Given the description of an element on the screen output the (x, y) to click on. 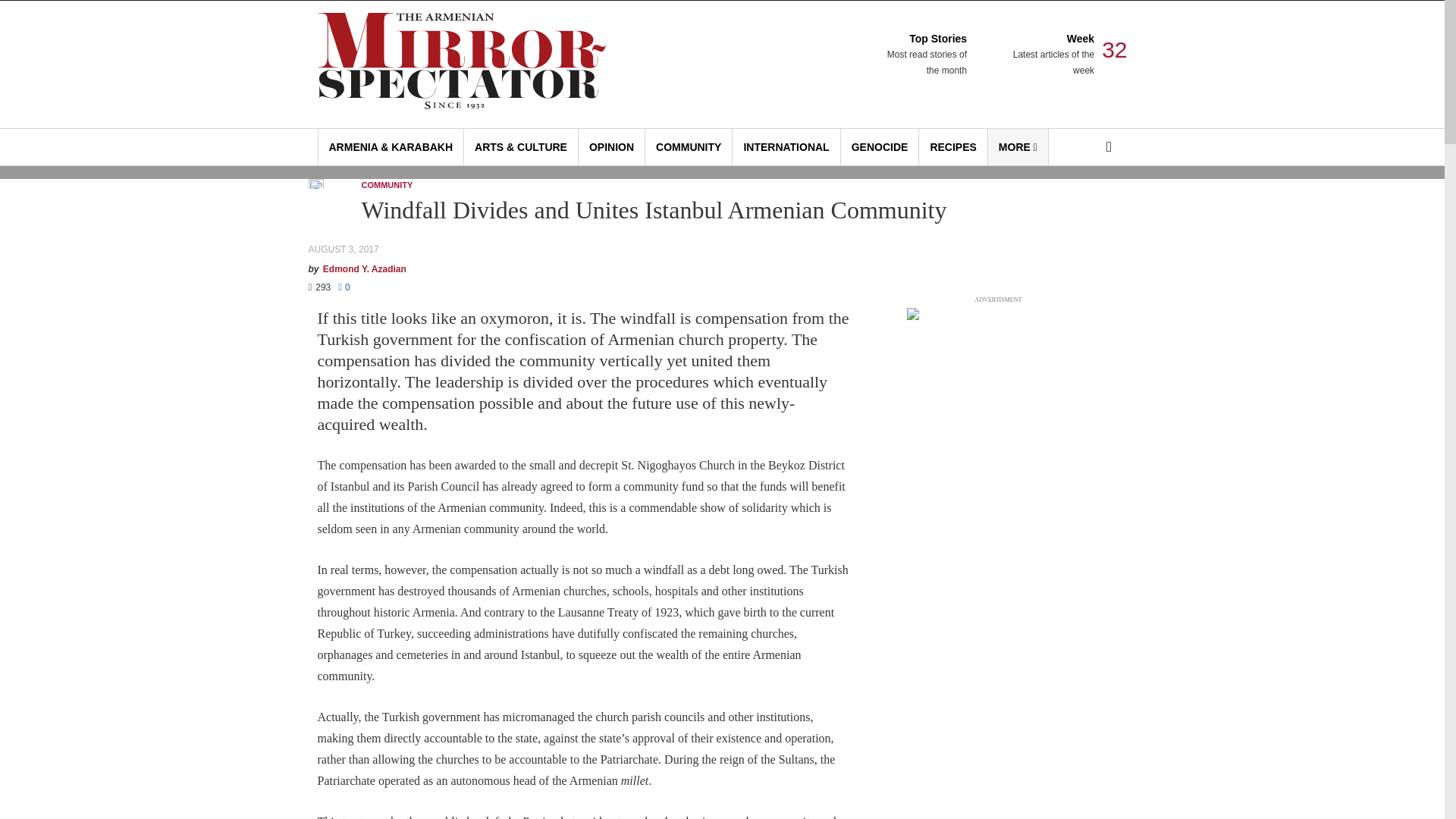
COMMUNITY (688, 146)
MORE (1018, 146)
GENOCIDE (879, 146)
RECIPES (952, 146)
INTERNATIONAL (786, 146)
OPINION (924, 54)
EditorialCartoon (611, 146)
